Given the description of an element on the screen output the (x, y) to click on. 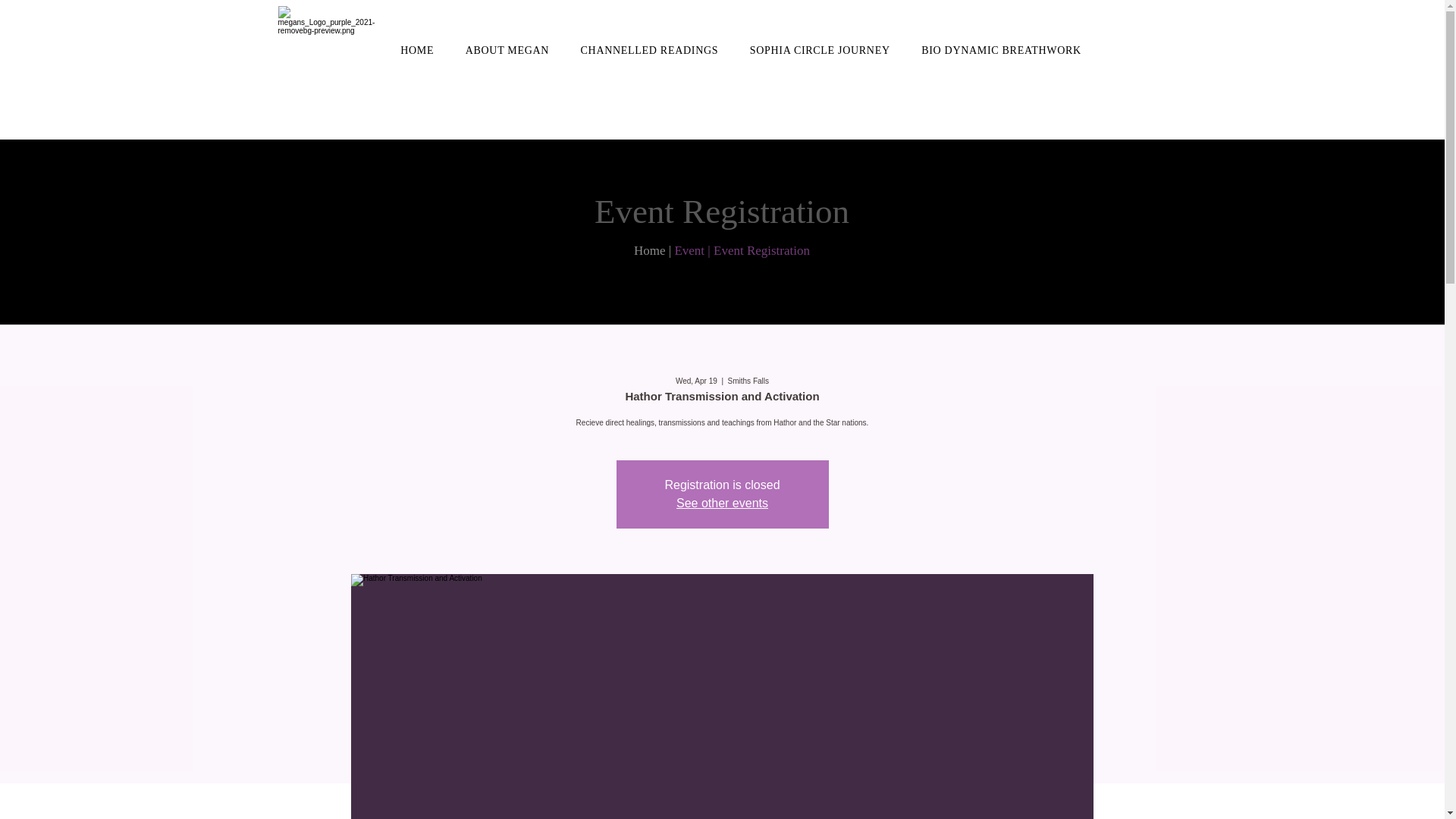
CHANNELLED READINGS (648, 50)
BIO DYNAMIC BREATHWORK (1000, 50)
ABOUT MEGAN (507, 50)
HOME (417, 50)
SOPHIA CIRCLE JOURNEY (819, 50)
See other events (722, 502)
